Given the description of an element on the screen output the (x, y) to click on. 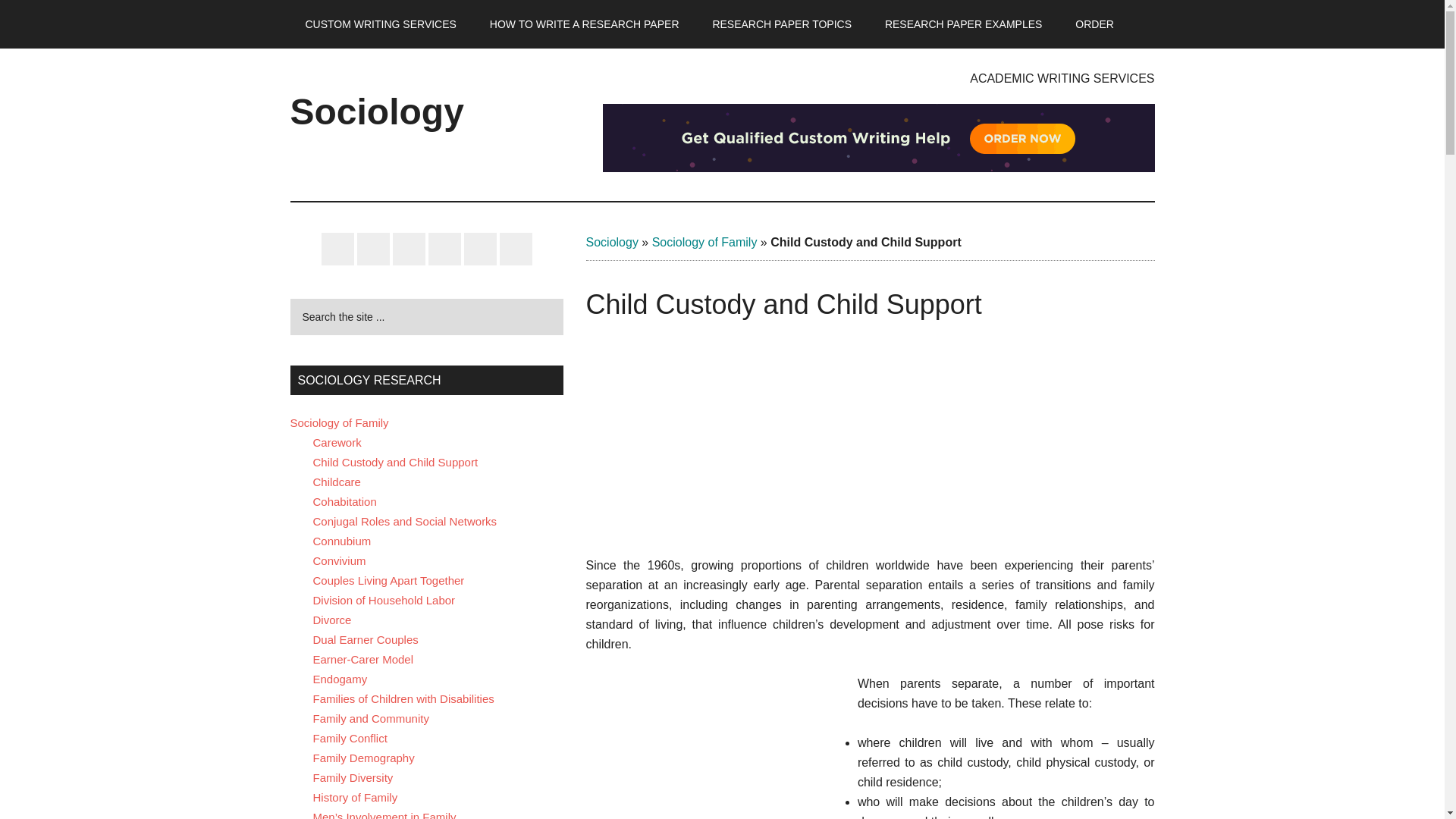
Endogamy (339, 678)
Divorce (331, 619)
Convivium (339, 560)
RESEARCH PAPER EXAMPLES (963, 24)
CUSTOM WRITING SERVICES (379, 24)
Couples Living Apart Together (388, 580)
Family Diversity (353, 777)
Family Demography (363, 757)
Convivium (339, 560)
Division of Household Labor (383, 599)
ORDER (1094, 24)
Family Conflict (350, 738)
History of Family (355, 797)
Sociology of Family (704, 241)
